Given the description of an element on the screen output the (x, y) to click on. 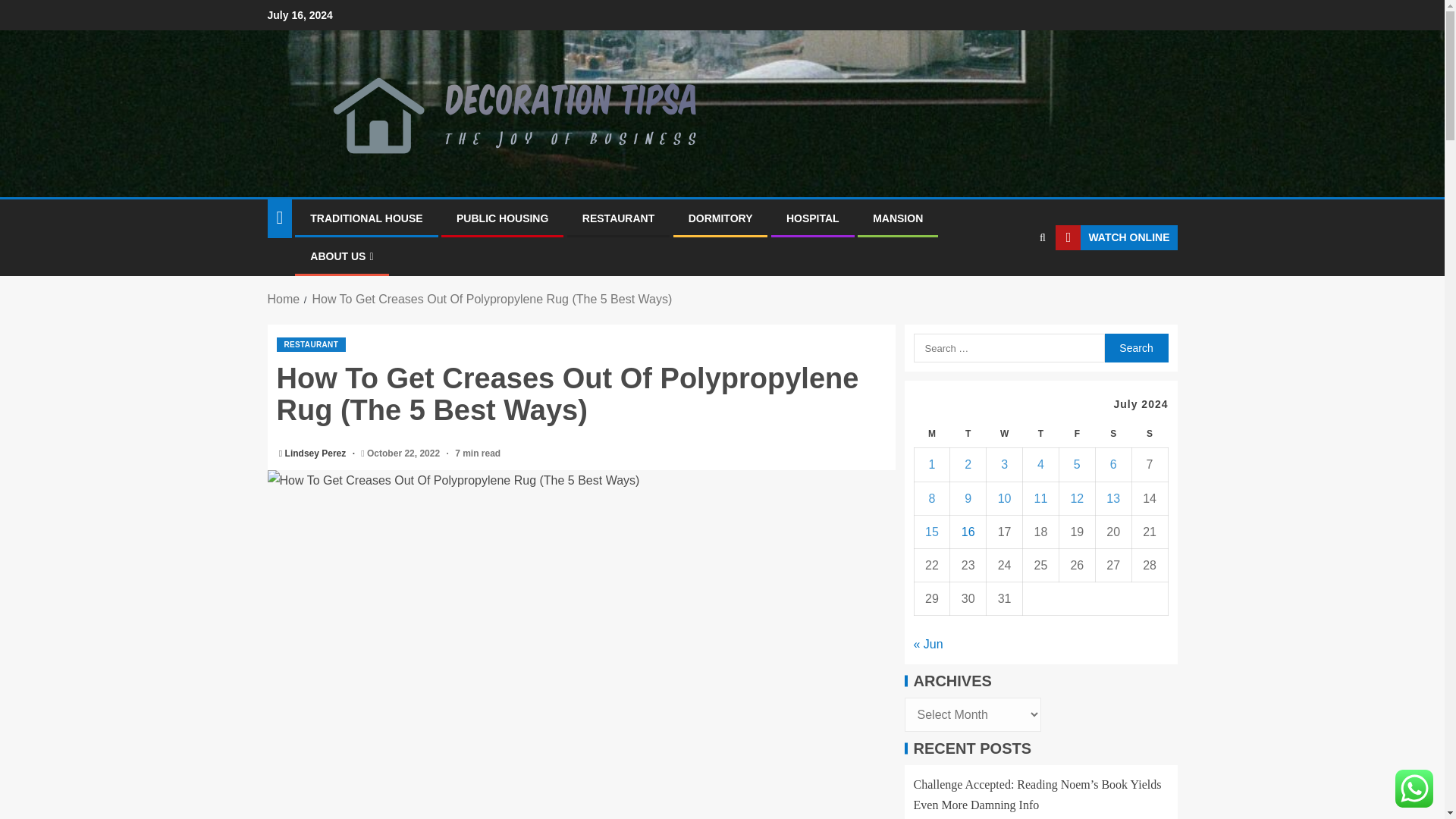
DORMITORY (720, 218)
Lindsey Perez (317, 452)
ABOUT US (341, 256)
RESTAURANT (617, 218)
Search (1135, 347)
WATCH ONLINE (1115, 237)
Search (1135, 347)
MANSION (897, 218)
Home (282, 298)
PUBLIC HOUSING (502, 218)
HOSPITAL (813, 218)
RESTAURANT (311, 344)
TRADITIONAL HOUSE (366, 218)
Search (1013, 284)
